Given the description of an element on the screen output the (x, y) to click on. 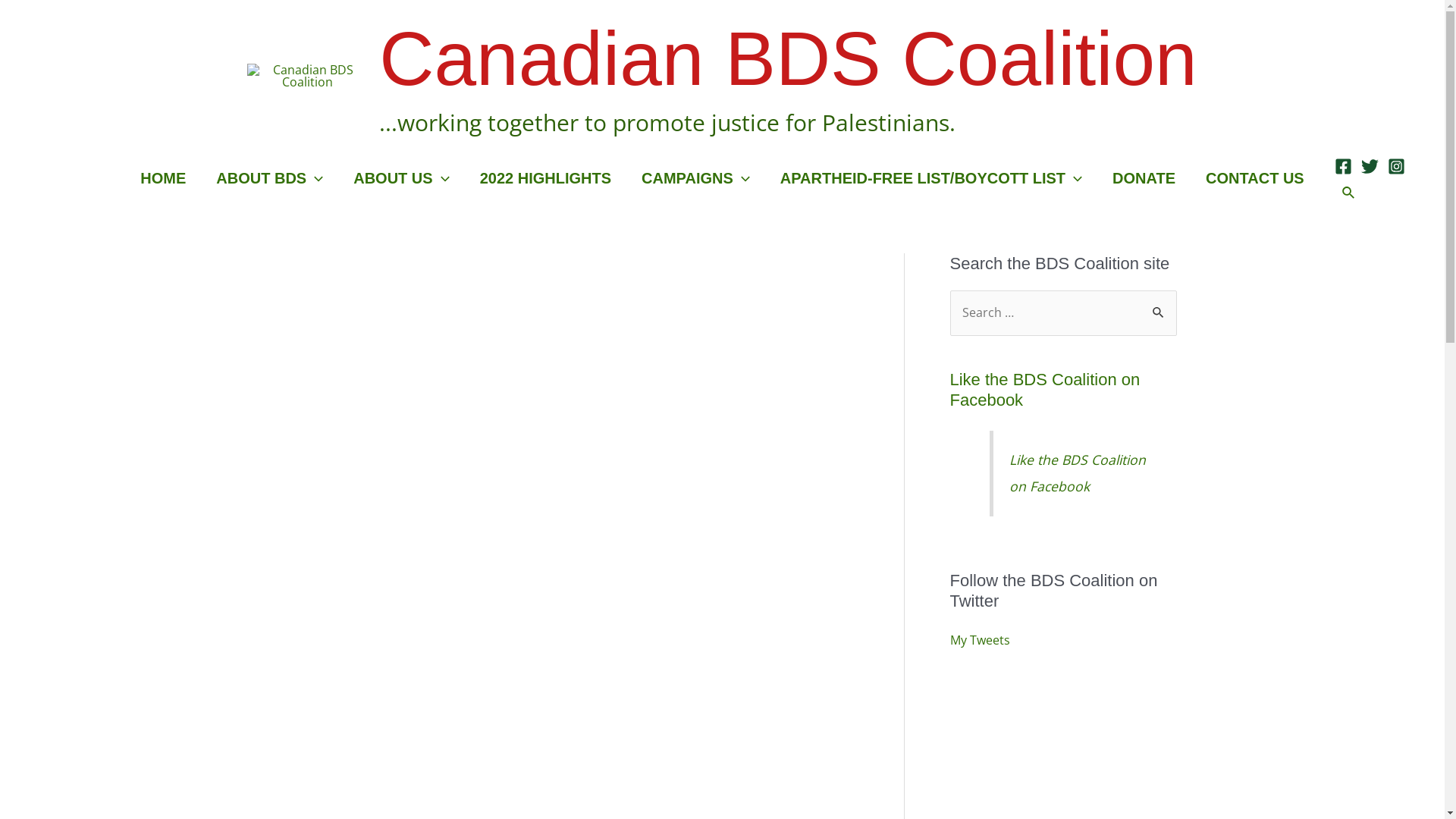
DONATE Element type: text (1143, 177)
Like the BDS Coalition on Facebook Element type: text (1077, 472)
APARTHEID-FREE LIST/BOYCOTT LIST Element type: text (931, 177)
ABOUT US Element type: text (401, 177)
HOME Element type: text (162, 177)
My Tweets Element type: text (979, 639)
Search Element type: text (1348, 193)
Like the BDS Coalition on Facebook Element type: text (1044, 389)
CAMPAIGNS Element type: text (695, 177)
CONTACT US Element type: text (1254, 177)
2022 HIGHLIGHTS Element type: text (545, 177)
Canadian BDS Coalition Element type: text (787, 57)
Search Element type: text (1159, 306)
ABOUT BDS Element type: text (269, 177)
